Given the description of an element on the screen output the (x, y) to click on. 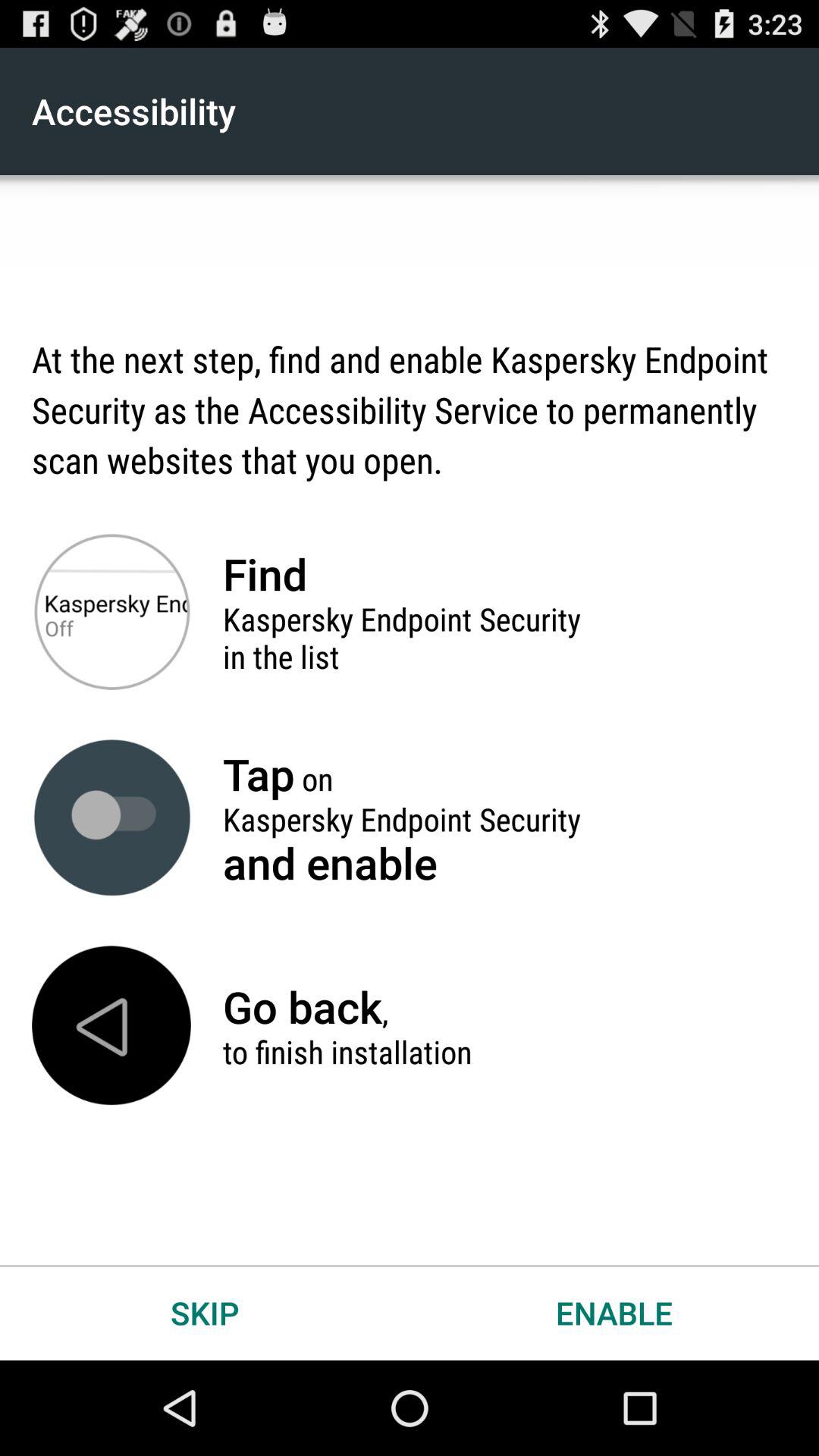
launch the icon next to enable button (204, 1312)
